Given the description of an element on the screen output the (x, y) to click on. 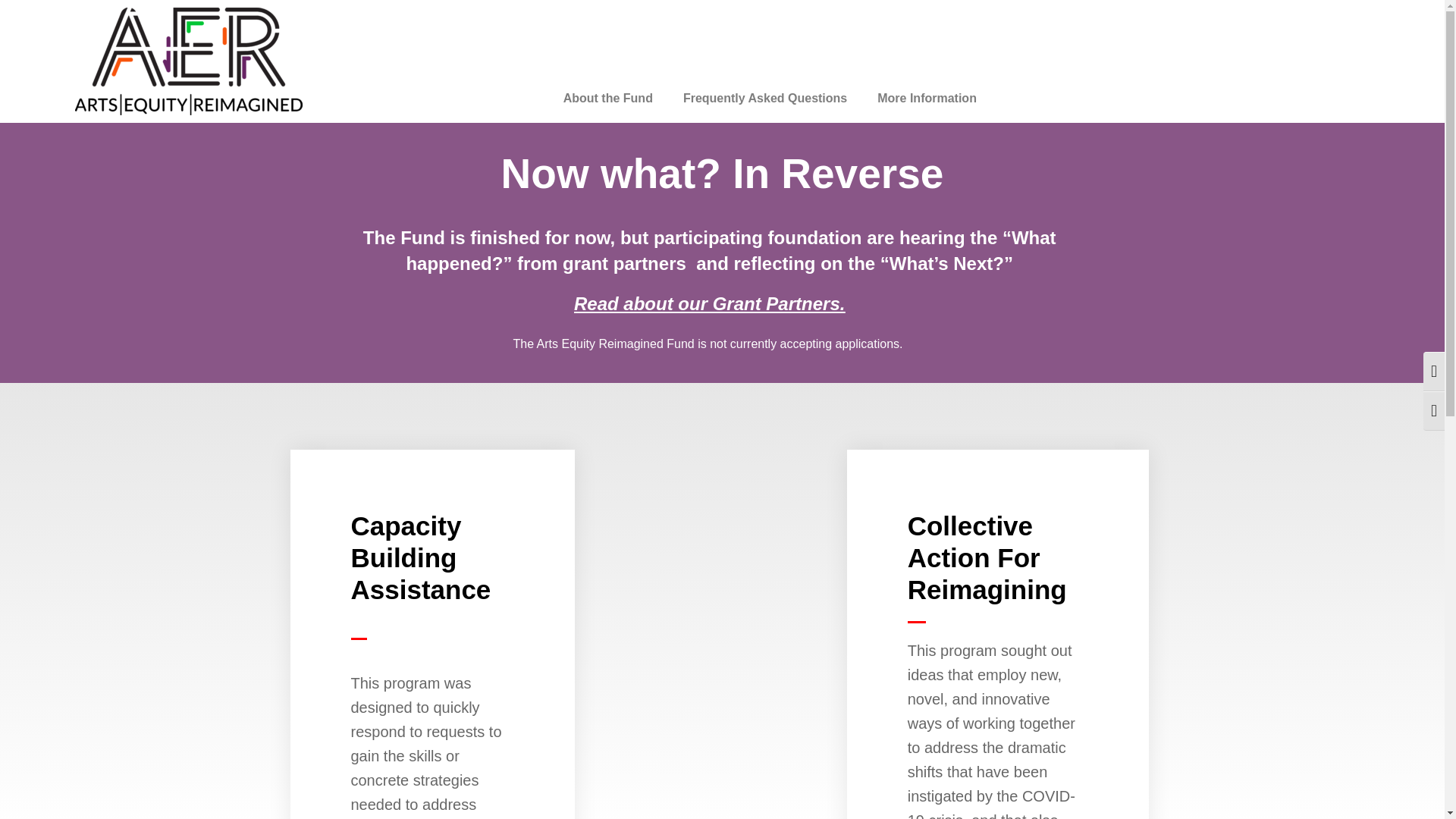
Read about our Grant Partners. (708, 303)
About the Fund (608, 98)
More Information (926, 98)
Frequently Asked Questions (764, 98)
